Given the description of an element on the screen output the (x, y) to click on. 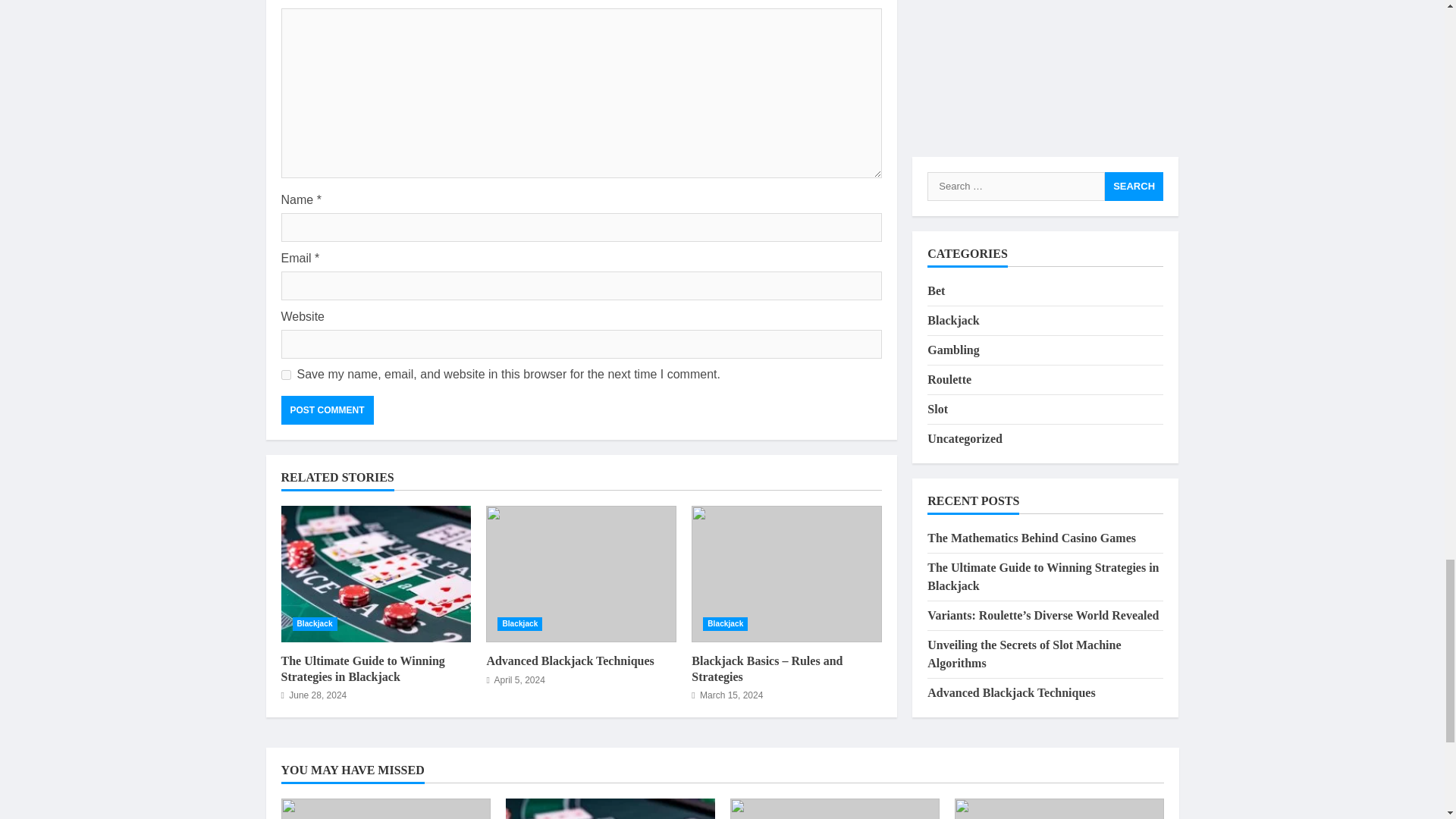
yes (285, 375)
Post Comment (326, 410)
Advanced Blackjack Techniques (569, 660)
Blackjack (519, 623)
The Ultimate Guide to Winning Strategies in Blackjack (375, 574)
Advanced Blackjack Techniques (581, 574)
Blackjack (725, 623)
Post Comment (326, 410)
Blackjack (314, 623)
The Ultimate Guide to Winning Strategies in Blackjack (362, 668)
